Given the description of an element on the screen output the (x, y) to click on. 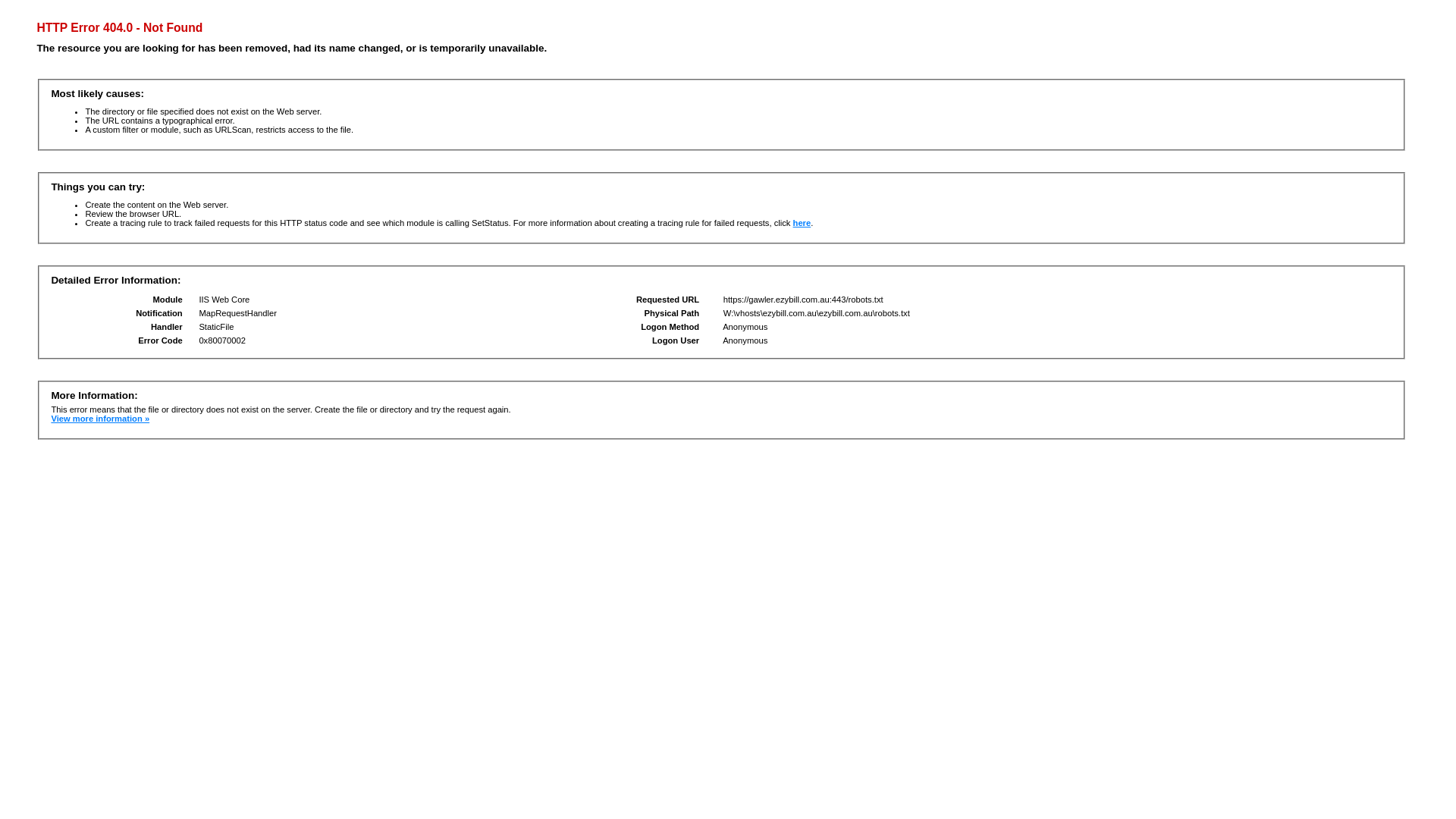
here Element type: text (802, 222)
